Given the description of an element on the screen output the (x, y) to click on. 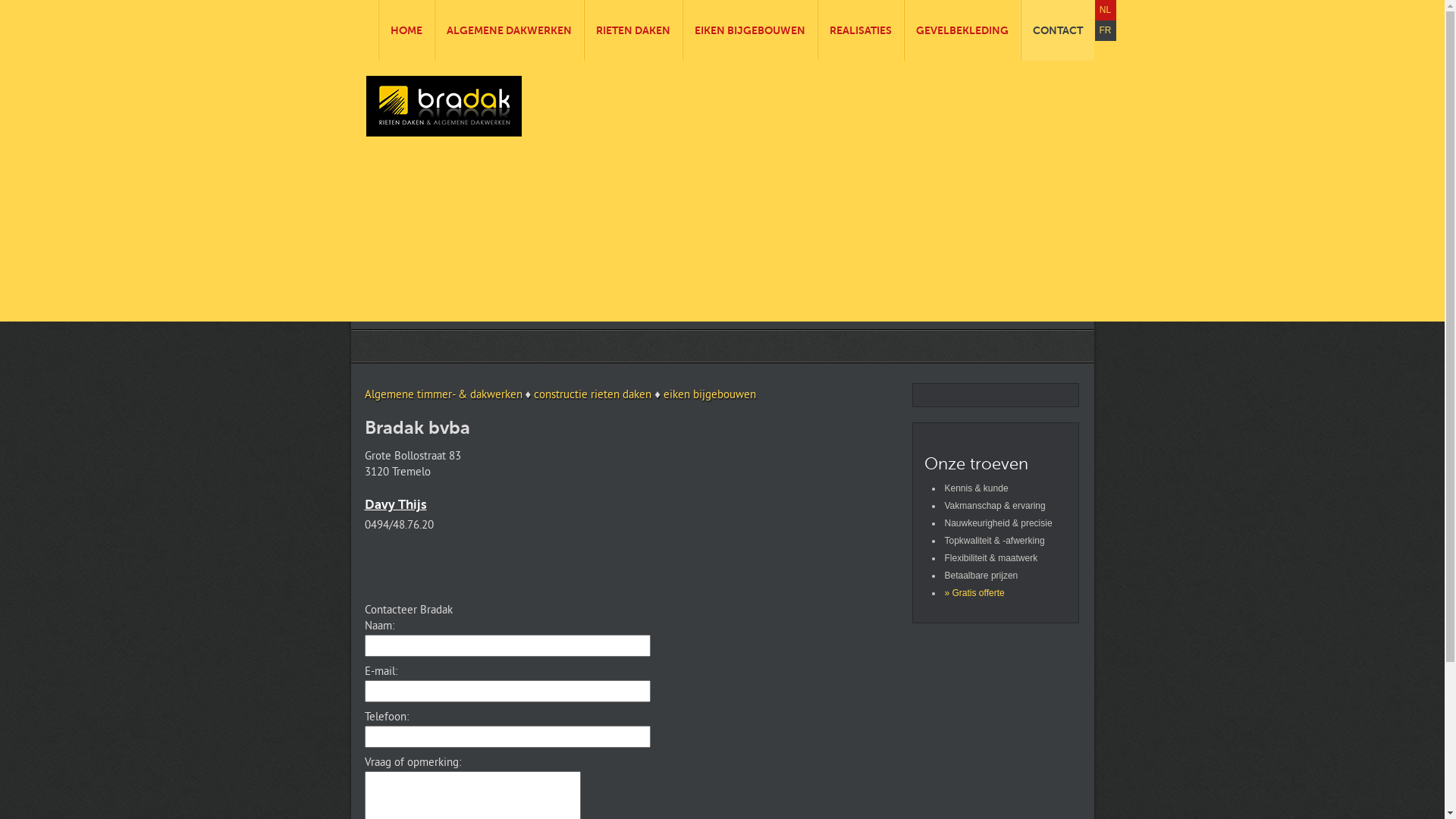
HOME Element type: text (406, 30)
eiken bijgebouwen Element type: text (709, 395)
CONTACT Element type: text (1056, 30)
REALISATIES Element type: text (859, 30)
GEVELBEKLEDING Element type: text (961, 30)
ALGEMENE DAKWERKEN Element type: text (509, 30)
Algemene timmer- & dakwerken Element type: text (442, 395)
RIETEN DAKEN Element type: text (631, 30)
Gratis offerte Element type: text (978, 592)
EIKEN BIJGEBOUWEN Element type: text (748, 30)
NL Element type: text (1105, 10)
FR Element type: text (1105, 30)
constructie rieten daken Element type: text (592, 395)
